Given the description of an element on the screen output the (x, y) to click on. 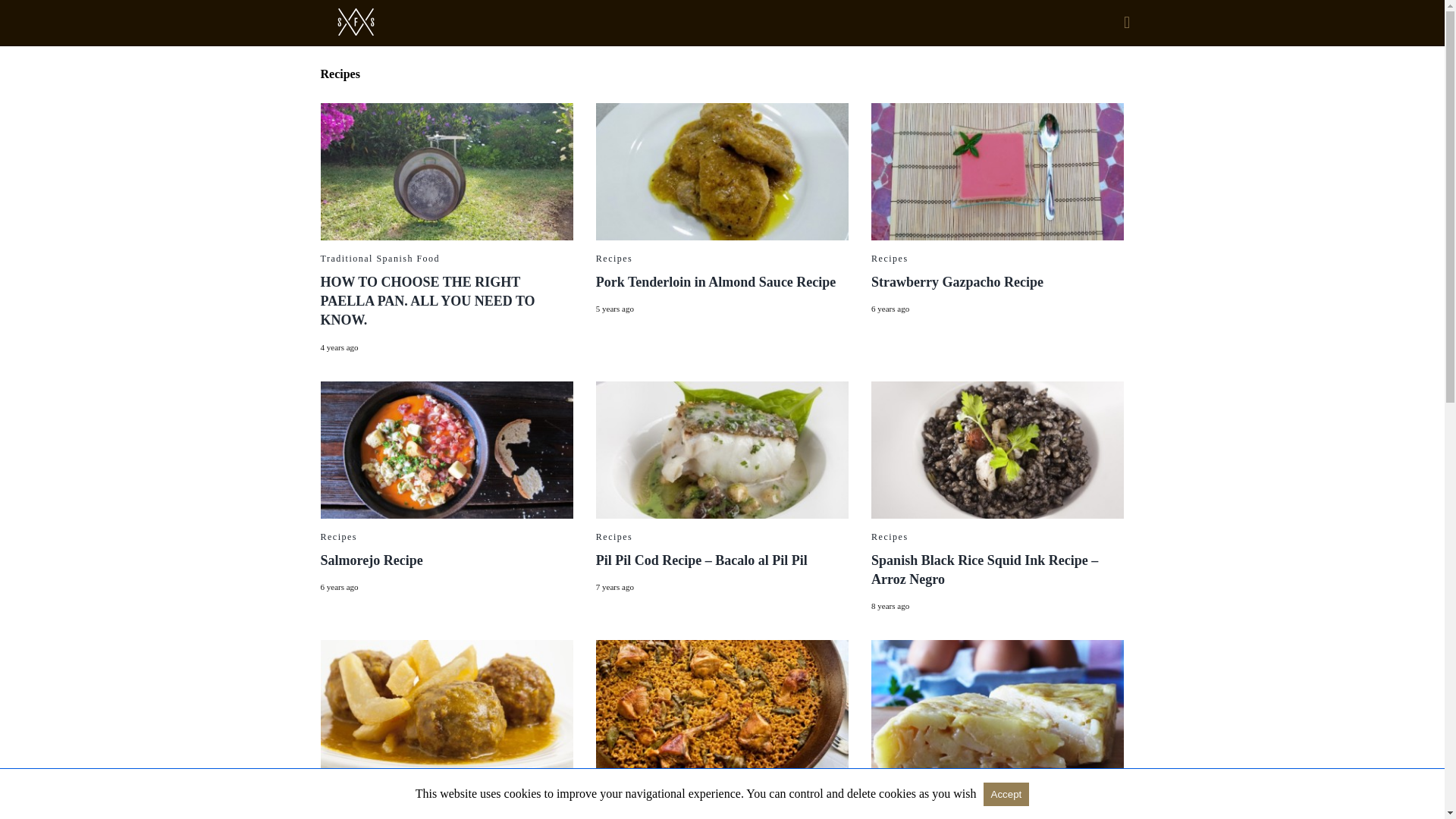
Spain Food Sherpas (398, 21)
Strawberry Gazpacho Recipe (956, 281)
Paella Valenciana Recipe -The Traditional Paella Valenciana (721, 708)
Recipes (889, 536)
Salmorejo Recipe (446, 449)
Recipes (889, 258)
Recipes (338, 536)
HOW TO CHOOSE THE RIGHT PAELLA PAN. ALL YOU NEED TO KNOW. (446, 171)
Salmorejo Recipe (371, 560)
Recipes (614, 536)
